Given the description of an element on the screen output the (x, y) to click on. 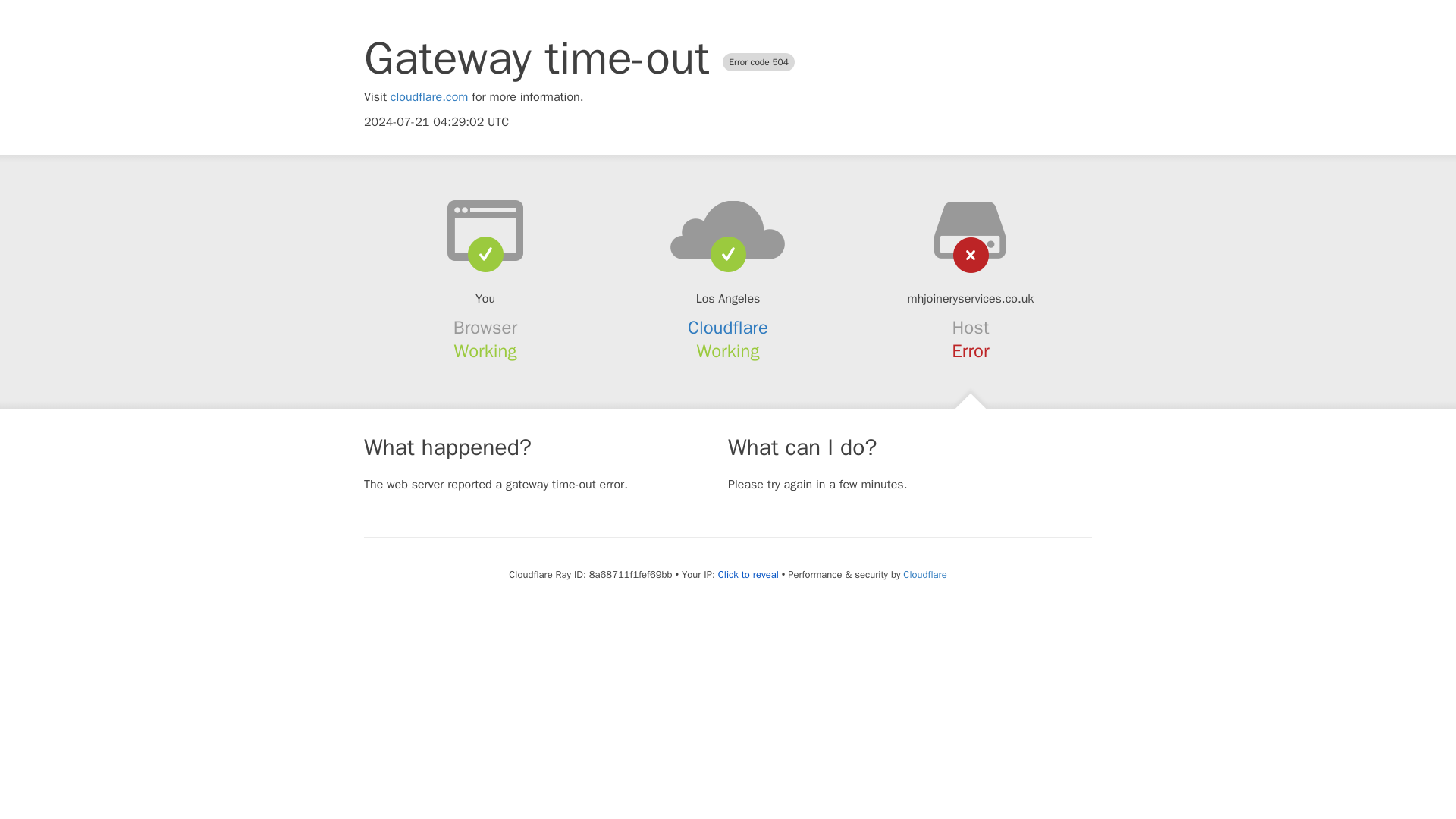
Click to reveal (747, 574)
cloudflare.com (429, 96)
Cloudflare (727, 327)
Cloudflare (924, 574)
